Given the description of an element on the screen output the (x, y) to click on. 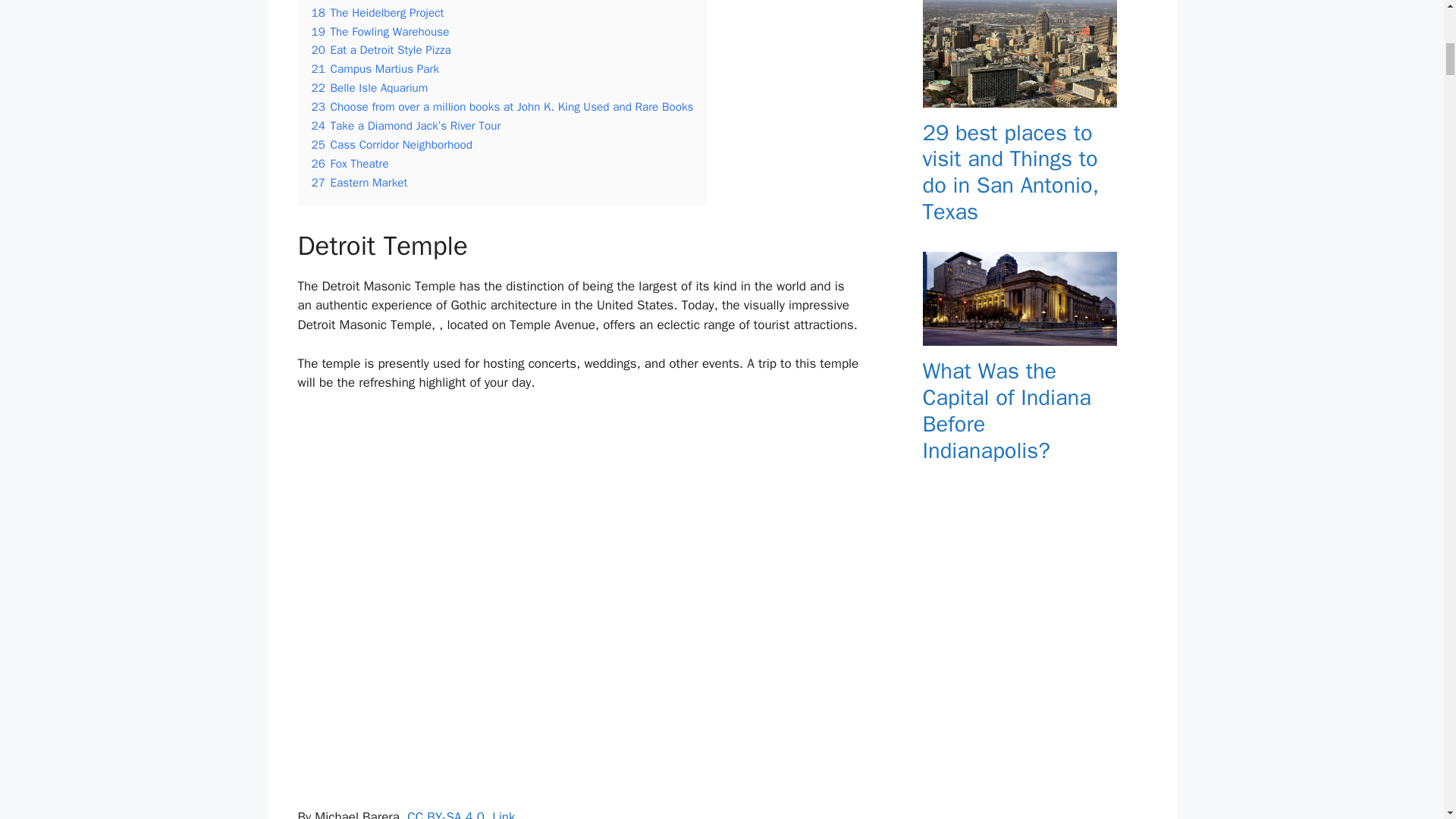
22 Belle Isle Aquarium (369, 87)
21 Campus Martius Park (375, 68)
18 The Heidelberg Project (377, 12)
19 The Fowling Warehouse (379, 31)
Creative Commons Attribution-Share Alike 4.0 (445, 814)
20 Eat a Detroit Style Pizza (380, 49)
